Given the description of an element on the screen output the (x, y) to click on. 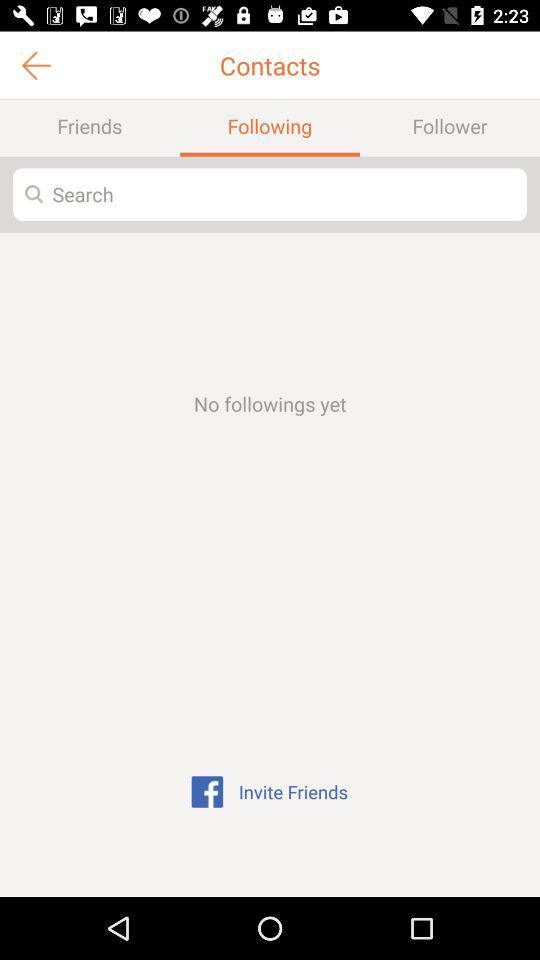
search option (269, 194)
